Given the description of an element on the screen output the (x, y) to click on. 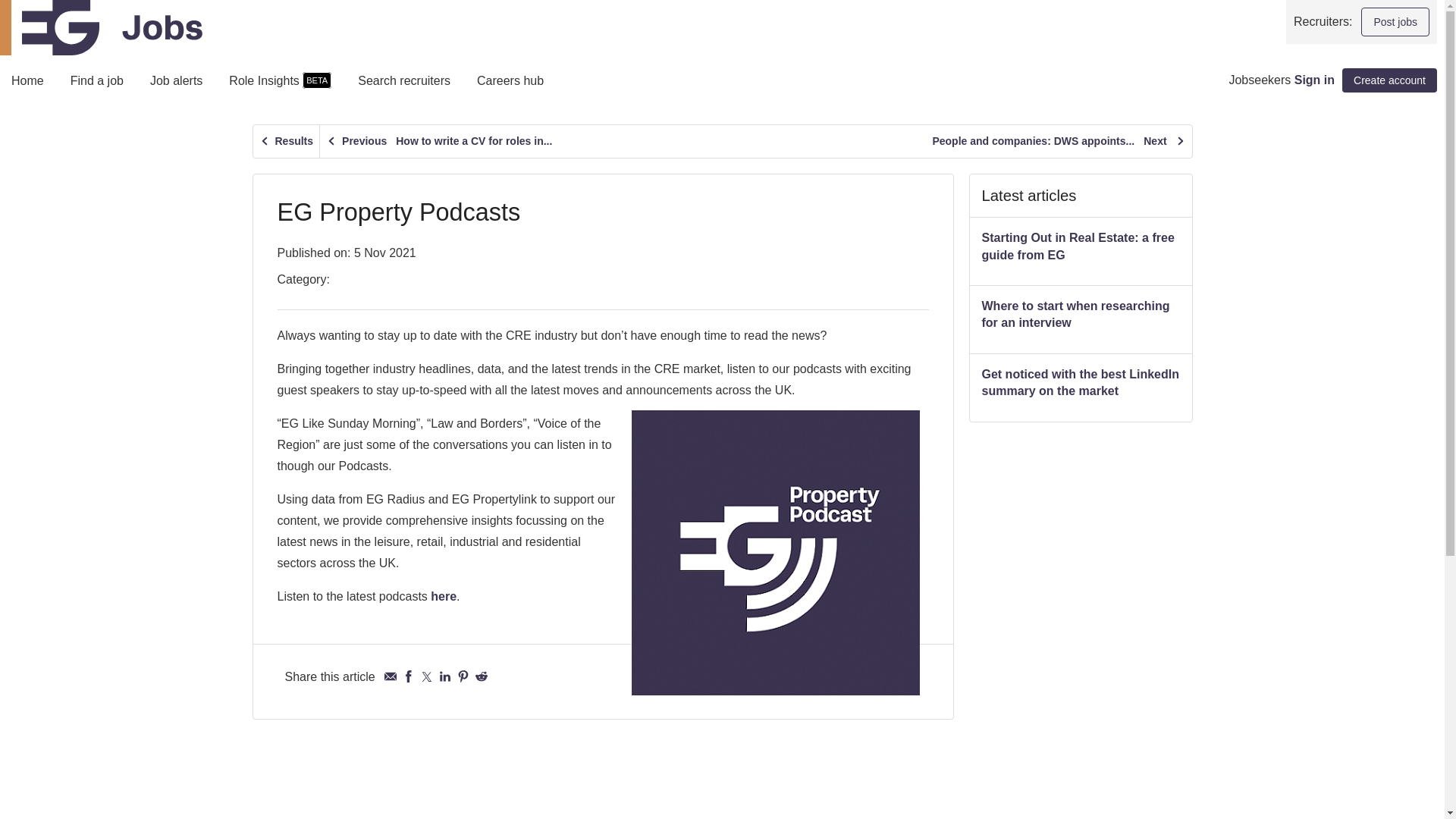
Post jobs (1395, 21)
Job alerts (176, 85)
PreviousHow to write a CV for roles in... (438, 141)
Sign in (1314, 79)
Where to start when researching for an interview (1075, 314)
Facebook (408, 676)
People and companies: DWS appoints...Next (1058, 141)
Search recruiters (403, 85)
EG Jobs (101, 27)
Starting Out in Real Estate: a free guide from EG (1077, 245)
Email this (390, 676)
Get noticed with the best LinkedIn summary on the market (1079, 382)
LinkedIn (445, 676)
3rd party ad content (1080, 628)
Twitter (426, 676)
